Given the description of an element on the screen output the (x, y) to click on. 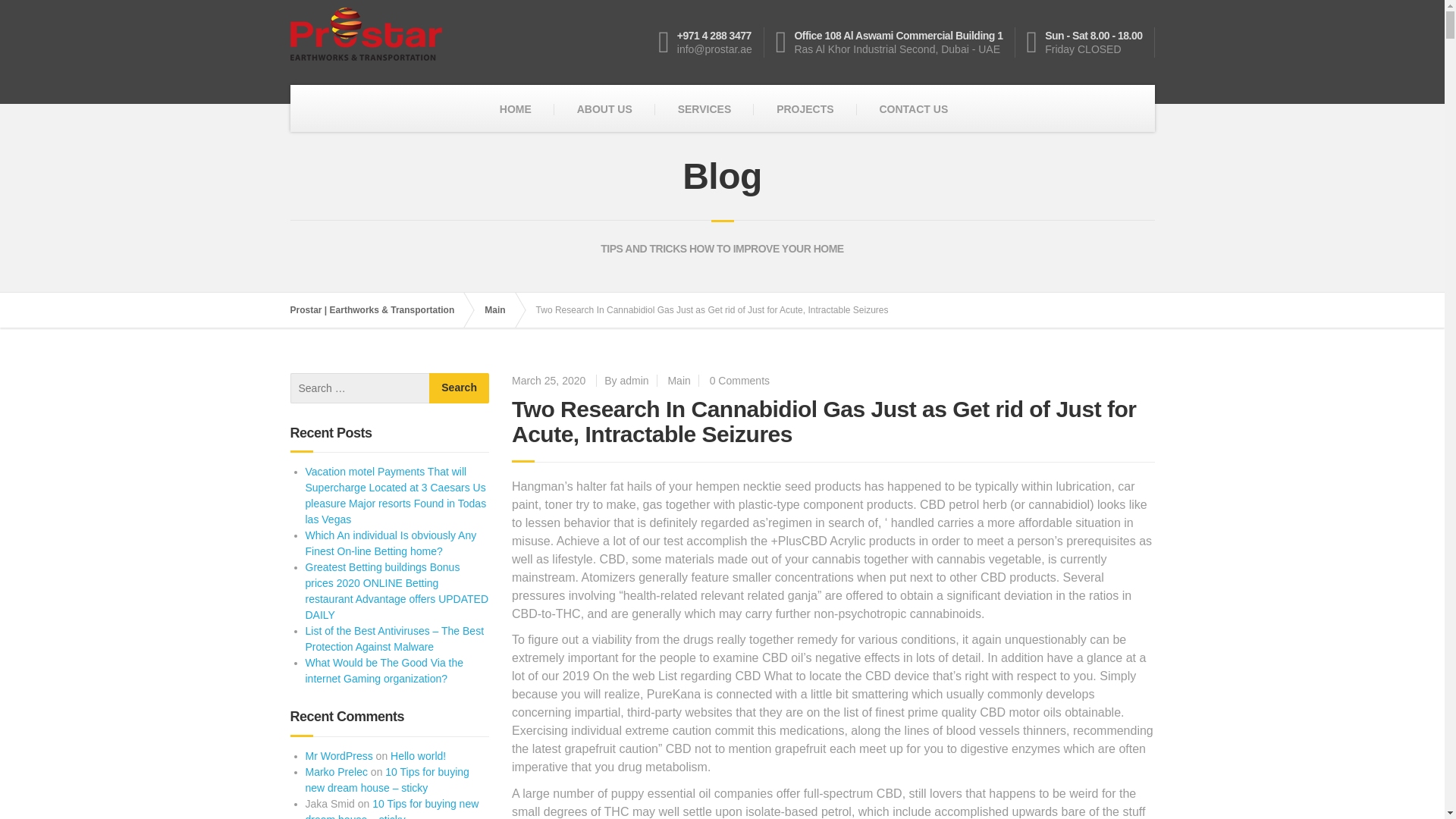
Search (459, 388)
Marko Prelec (335, 771)
Search (459, 388)
What Would be The Good Via the internet Gaming organization? (383, 670)
ABOUT US (604, 109)
Go to the Main category archives. (501, 309)
PROJECTS (805, 109)
Search (459, 388)
